Given the description of an element on the screen output the (x, y) to click on. 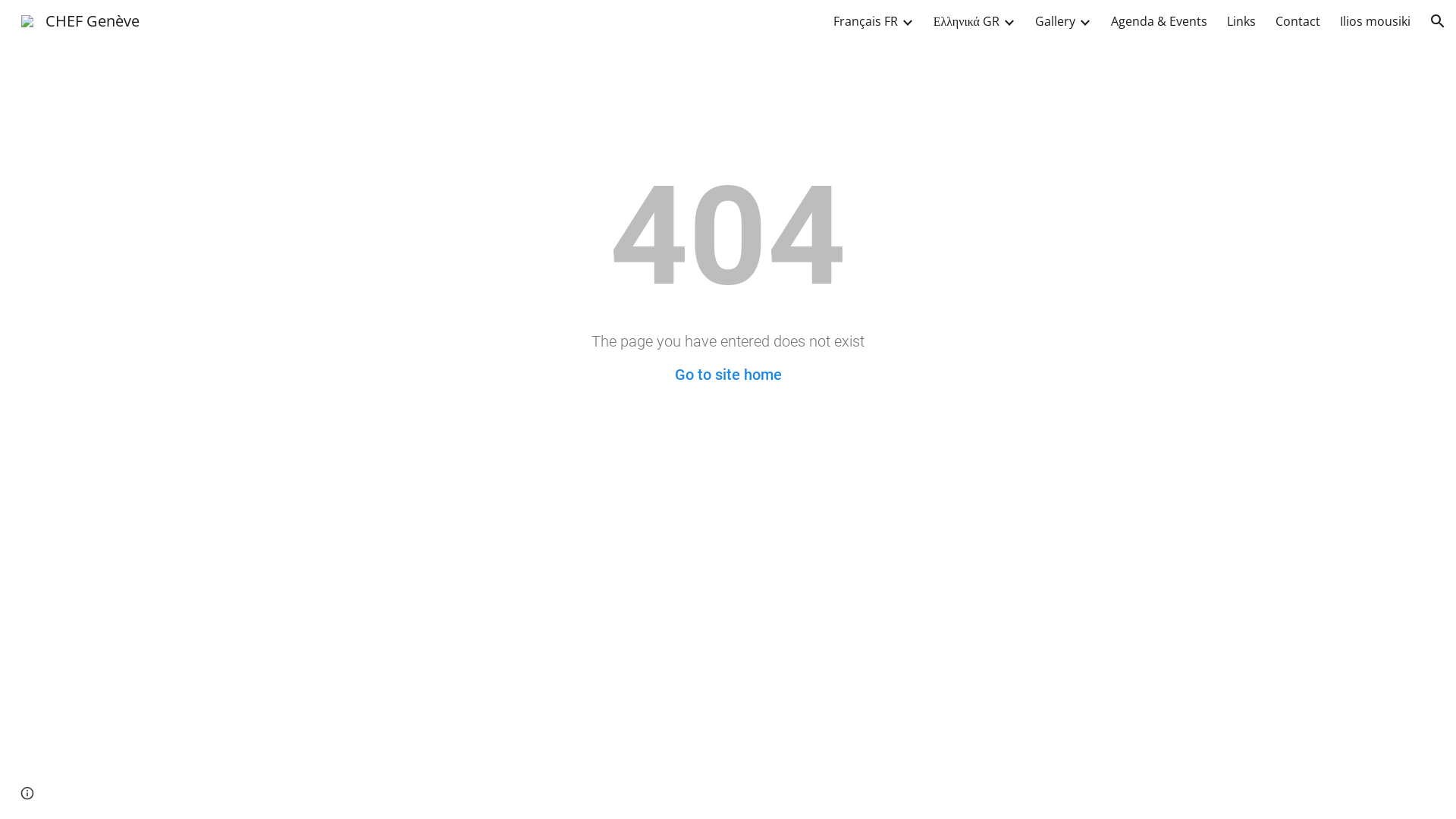
Expand/Collapse Element type: hover (906, 20)
Go to site home Element type: text (727, 374)
Agenda & Events Element type: text (1158, 20)
Expand/Collapse Element type: hover (1084, 20)
Ilios mousiki Element type: text (1374, 20)
Contact Element type: text (1297, 20)
Expand/Collapse Element type: hover (1008, 20)
Links Element type: text (1240, 20)
Gallery Element type: text (1055, 20)
